Given the description of an element on the screen output the (x, y) to click on. 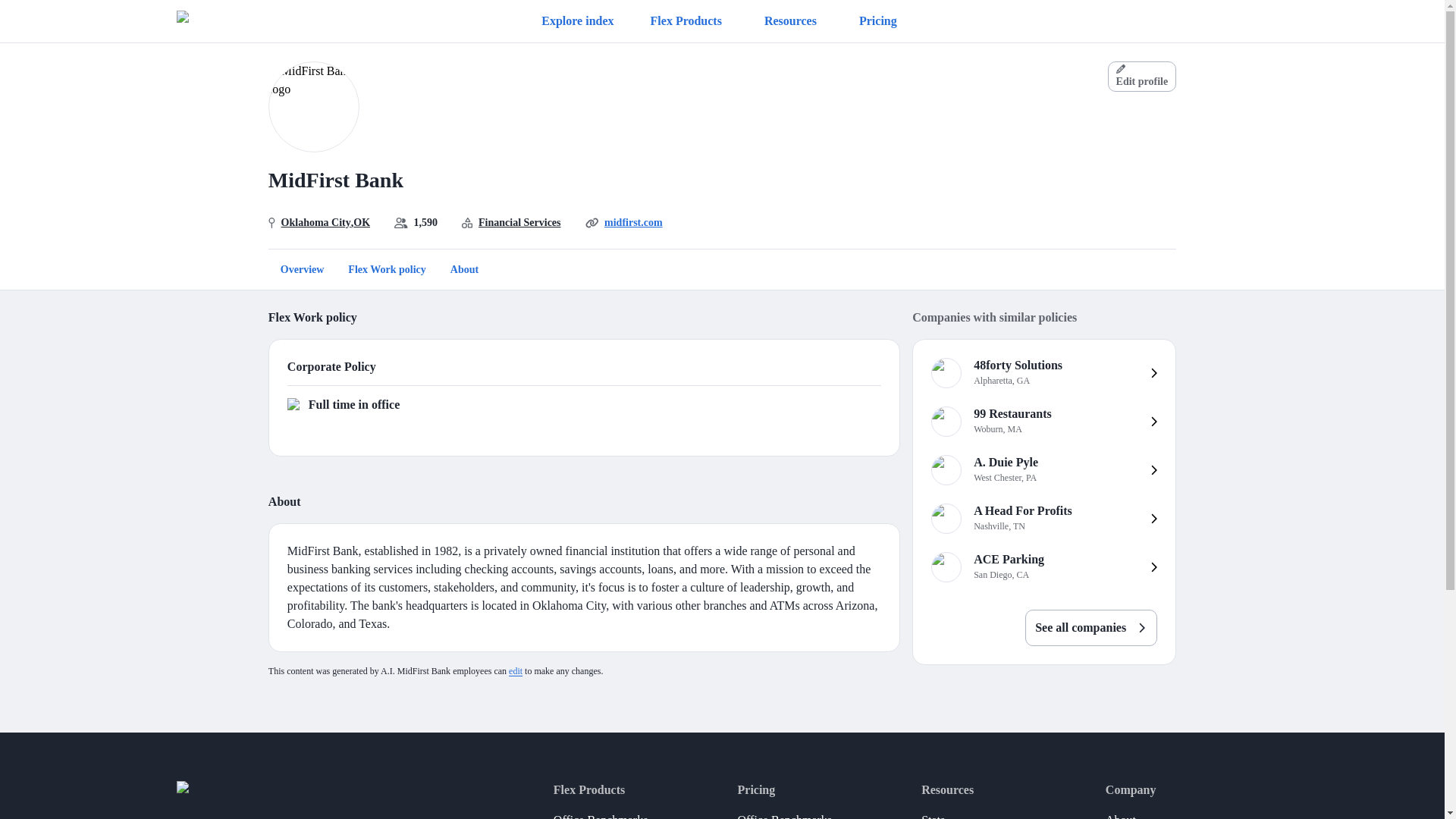
Oklahoma City (315, 222)
Office Benchmarks (784, 812)
Financial Services (519, 222)
edit (515, 670)
See all companies (1091, 627)
Explore index (1043, 372)
Office Benchmarks (576, 21)
OK (1043, 566)
